Given the description of an element on the screen output the (x, y) to click on. 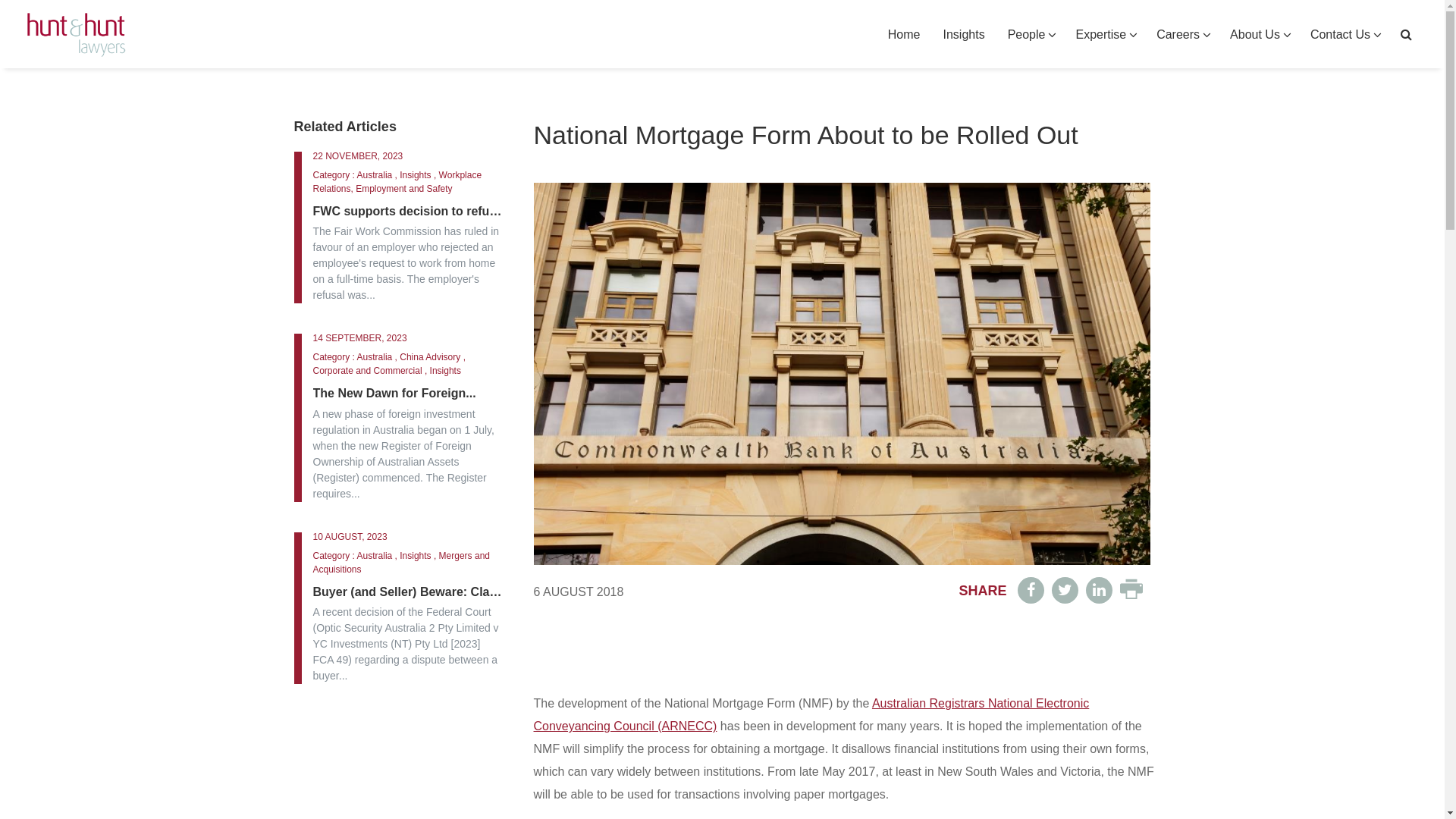
Workplace Relations, Employment and Safety Element type: text (396, 181)
About Us Element type: text (1258, 34)
The New Dawn for Foreign... Element type: text (407, 393)
Careers Element type: text (1181, 34)
Buyer (and Seller) Beware: Claims... Element type: text (407, 591)
Insights Element type: text (445, 370)
Australia Element type: text (374, 356)
Insights Element type: text (963, 34)
Expertise Element type: text (1104, 34)
Insights Element type: text (414, 174)
National Mortgage Form About to be Rolled Out Element type: hover (842, 560)
FWC supports decision to refuse... Element type: text (407, 211)
Home Element type: text (903, 34)
Print friendly version Element type: hover (1131, 594)
Skip to primary navigation Element type: text (0, 0)
Corporate and Commercial Element type: text (366, 370)
Mergers and Acquisitions Element type: text (400, 562)
China Advisory Element type: text (429, 356)
Contact Us Element type: text (1344, 34)
Hunt & Hunt Lawyers Element type: hover (75, 34)
Australia Element type: text (374, 555)
People Element type: text (1030, 34)
Insights Element type: text (414, 555)
Australia Element type: text (374, 174)
